Given the description of an element on the screen output the (x, y) to click on. 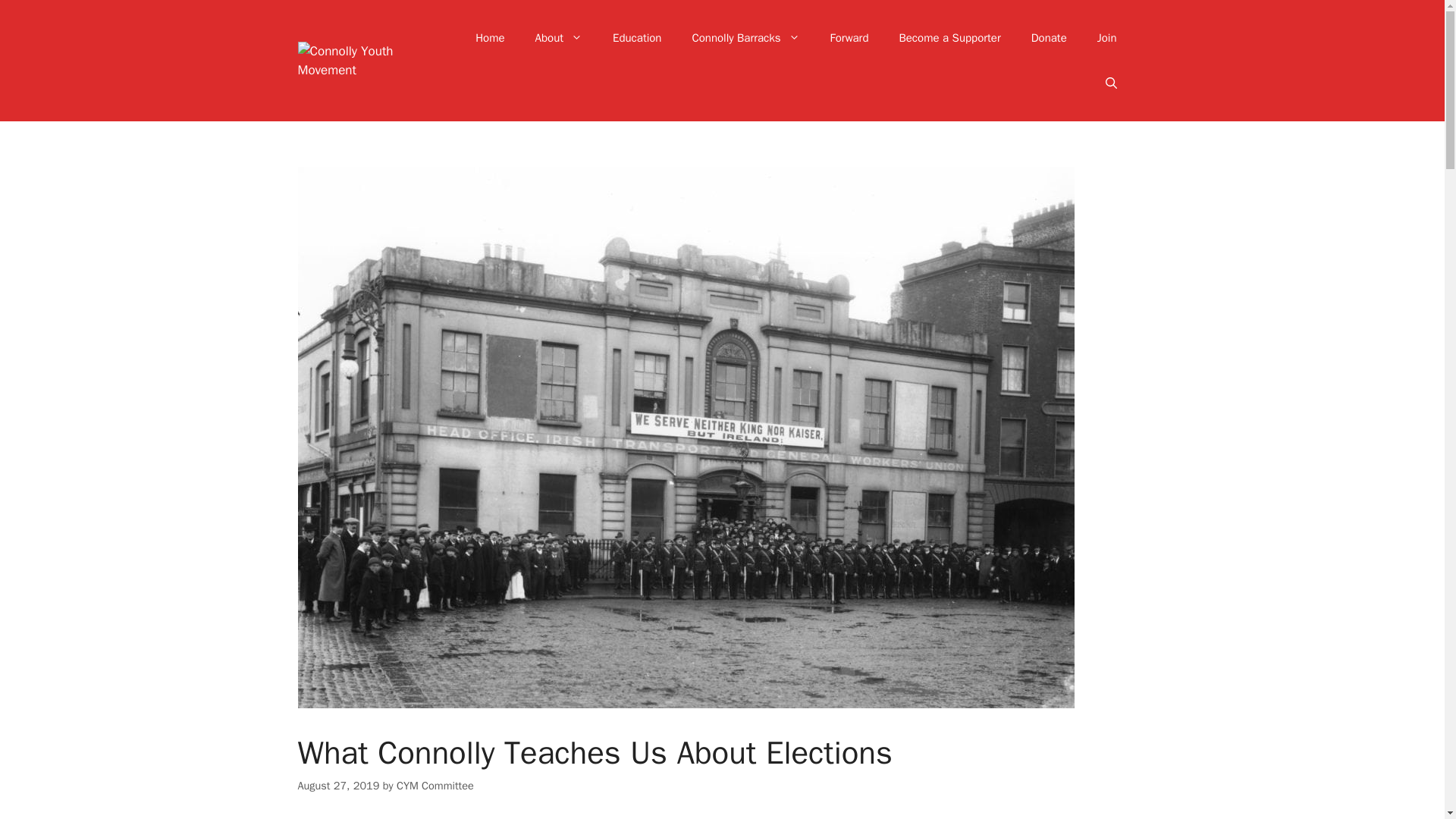
Connolly Barracks (745, 37)
CYM Committee (435, 785)
Donate (1048, 37)
View all posts by CYM Committee (435, 785)
Become a Supporter (949, 37)
About (557, 37)
Join (1106, 37)
Education (636, 37)
Home (489, 37)
Forward (849, 37)
